Given the description of an element on the screen output the (x, y) to click on. 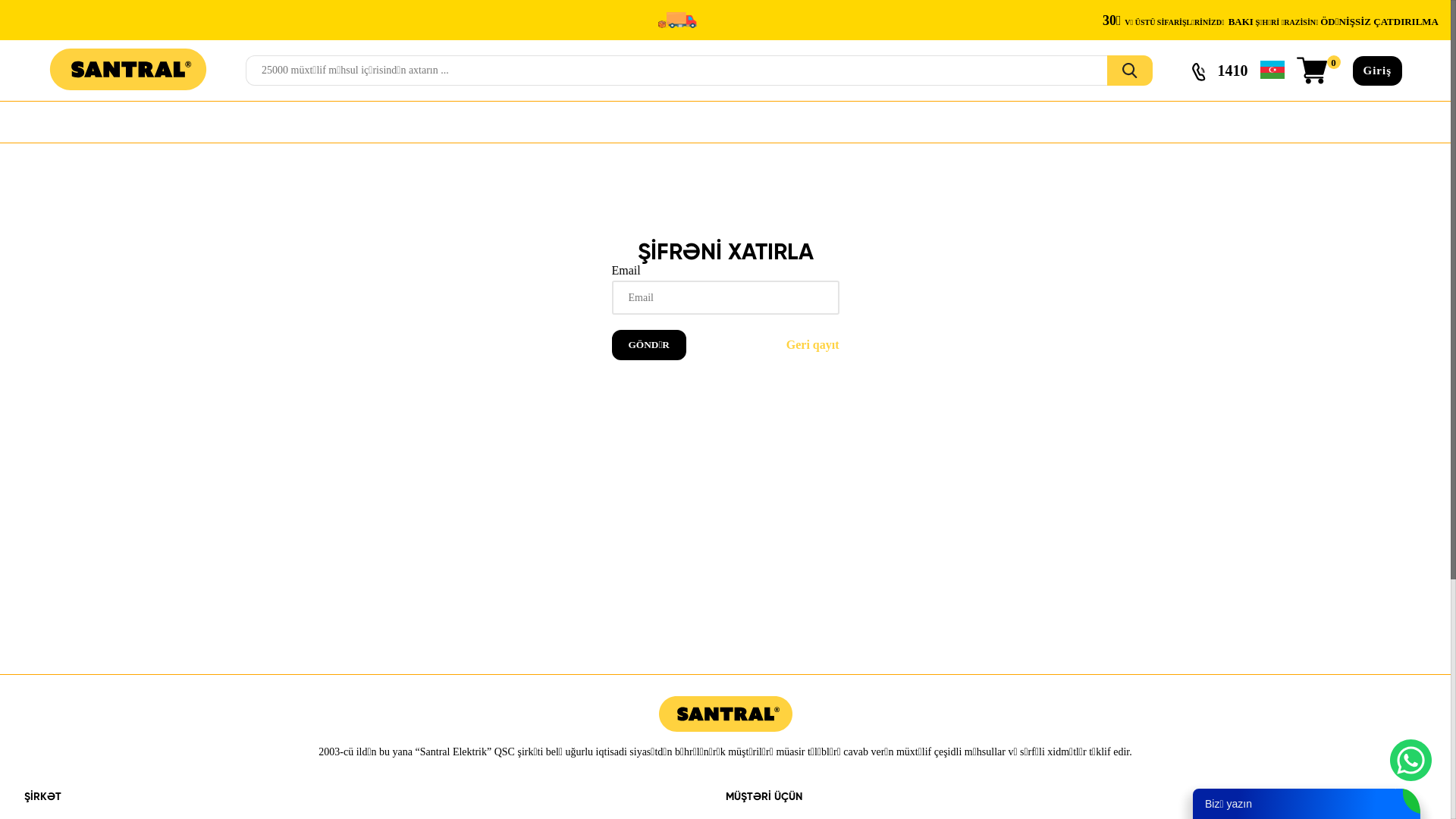
1410 Element type: text (1219, 70)
0 Element type: text (1318, 70)
